Given the description of an element on the screen output the (x, y) to click on. 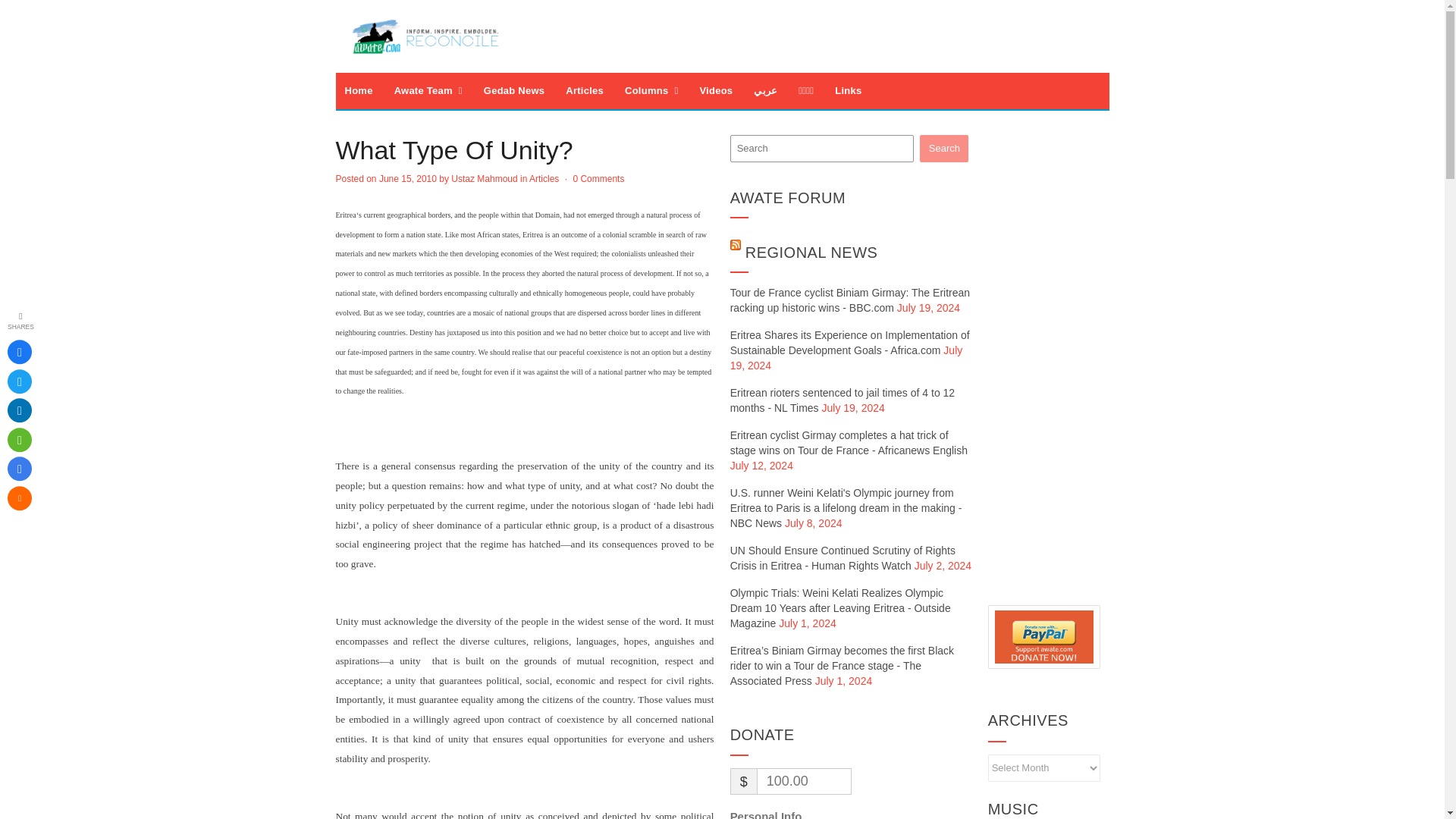
Columns (651, 90)
Awate Team (428, 90)
12:00 am (407, 178)
Gedab News (514, 90)
Home (357, 90)
Articles (584, 90)
100.00 (804, 781)
Awate.com (424, 36)
View all posts by Ustaz Mahmoud (483, 178)
